Given the description of an element on the screen output the (x, y) to click on. 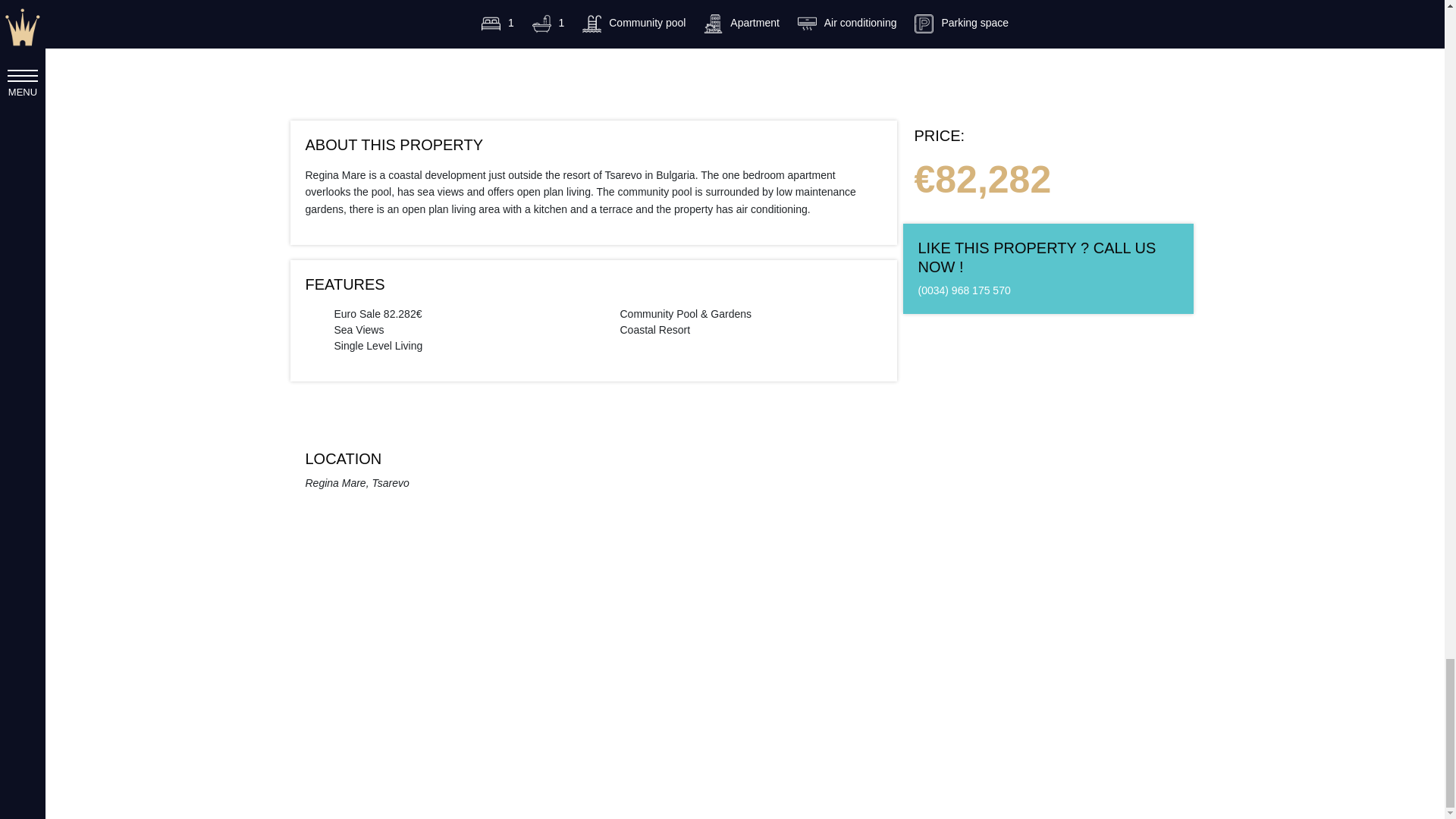
Bedrooms (499, 22)
Air conditioning (848, 22)
Swimming pool type (635, 22)
Property type (742, 22)
Bathrooms (549, 22)
Parking space (961, 22)
